Given the description of an element on the screen output the (x, y) to click on. 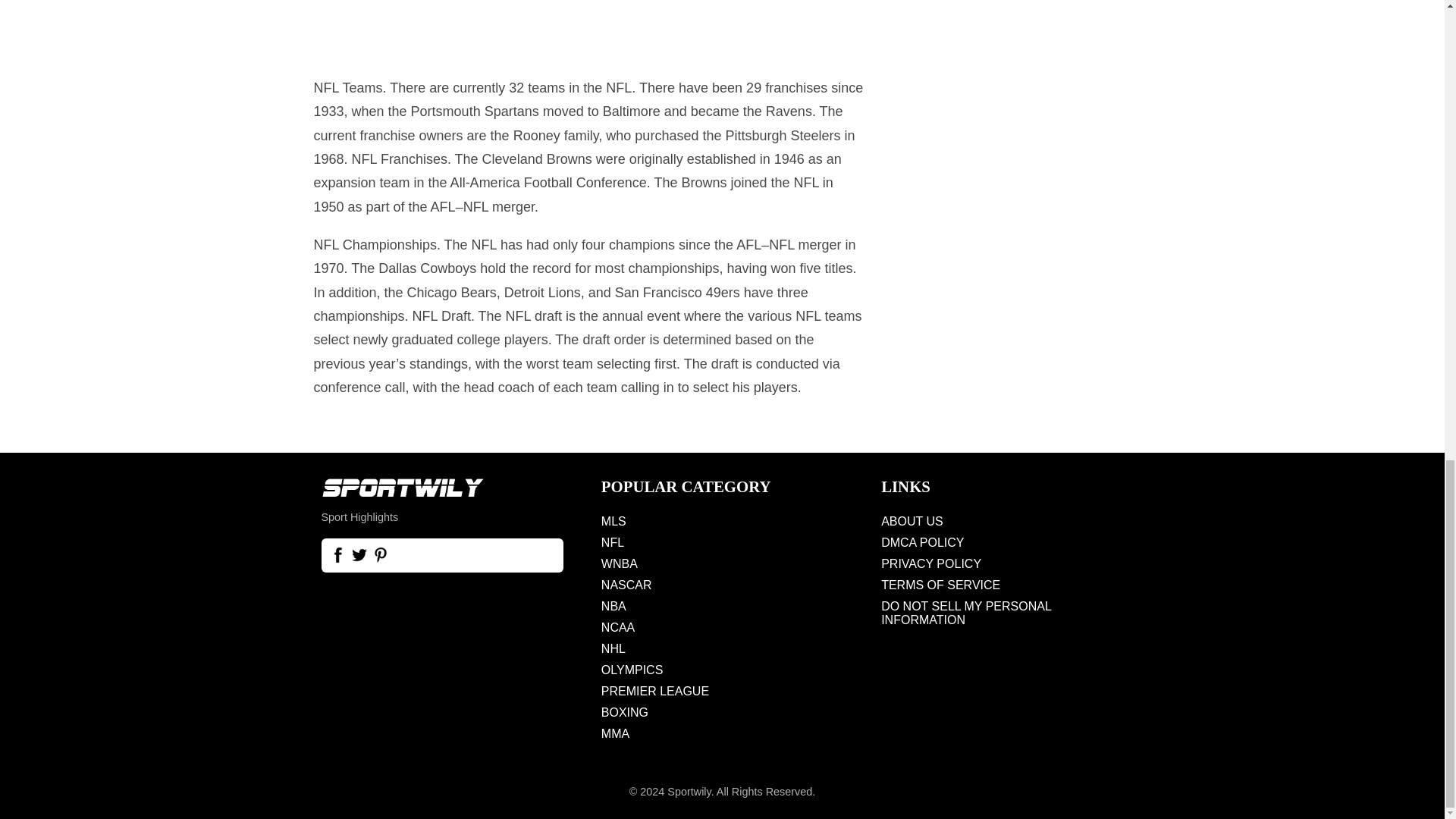
NFL (722, 542)
WNBA (722, 563)
MLS (722, 521)
